Given the description of an element on the screen output the (x, y) to click on. 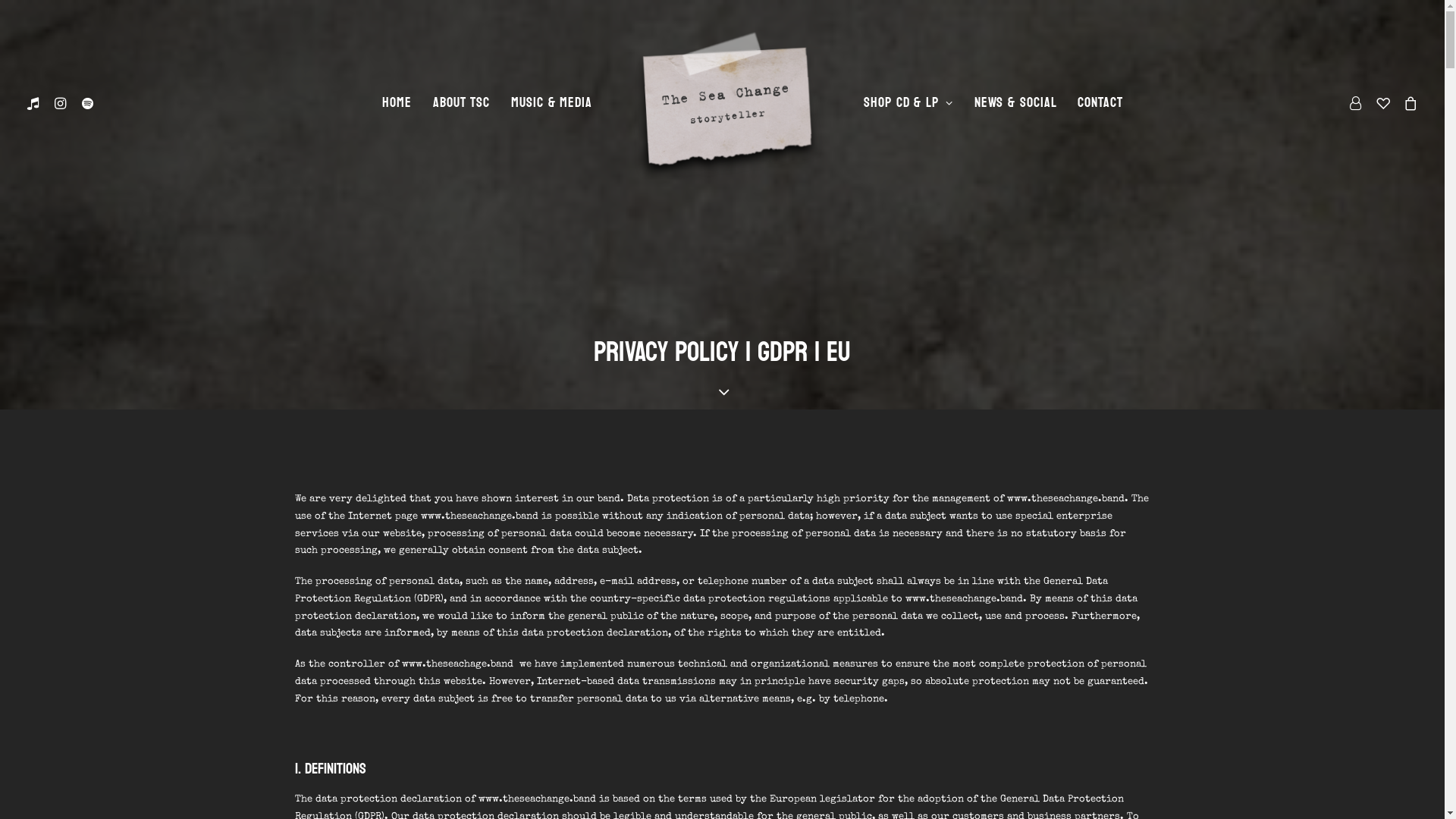
SHOP CD & LP Element type: text (908, 103)
MUSIC & MEDIA Element type: text (551, 103)
account Element type: hover (1358, 103)
wishlist Element type: hover (1382, 103)
NEWS & SOCIAL Element type: text (1015, 103)
www.theseachange.band Element type: text (478, 516)
www.theseachage.band Element type: text (457, 664)
ABOUT TSC Element type: text (461, 103)
www.theseachange.band Element type: text (536, 799)
cart Element type: hover (1407, 103)
www.theseachange.band Element type: text (1065, 499)
CONTACT Element type: text (1099, 103)
HOME Element type: text (396, 103)
